Given the description of an element on the screen output the (x, y) to click on. 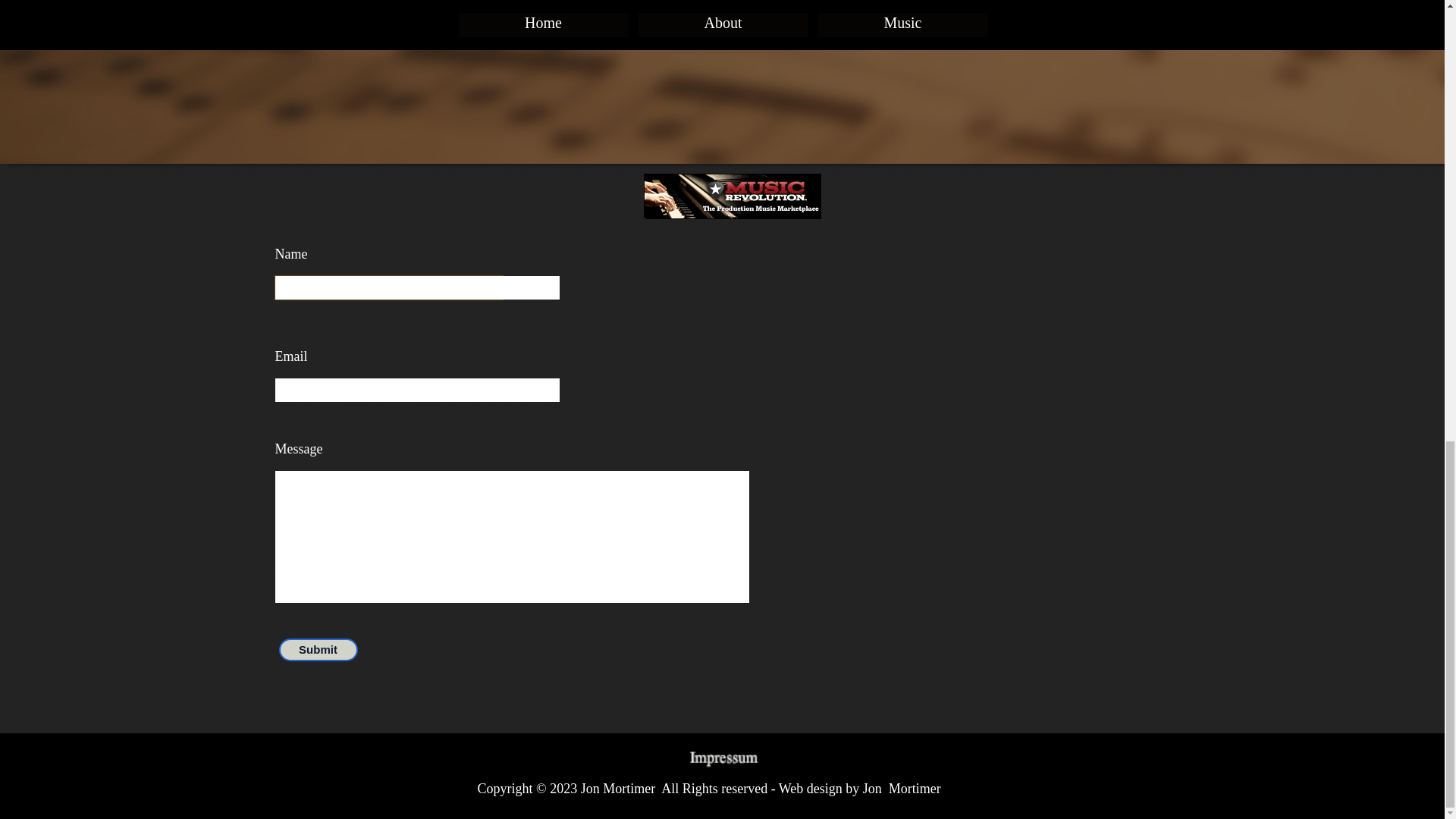
Privacy Policy  (1021, 777)
Submit (318, 652)
